Given the description of an element on the screen output the (x, y) to click on. 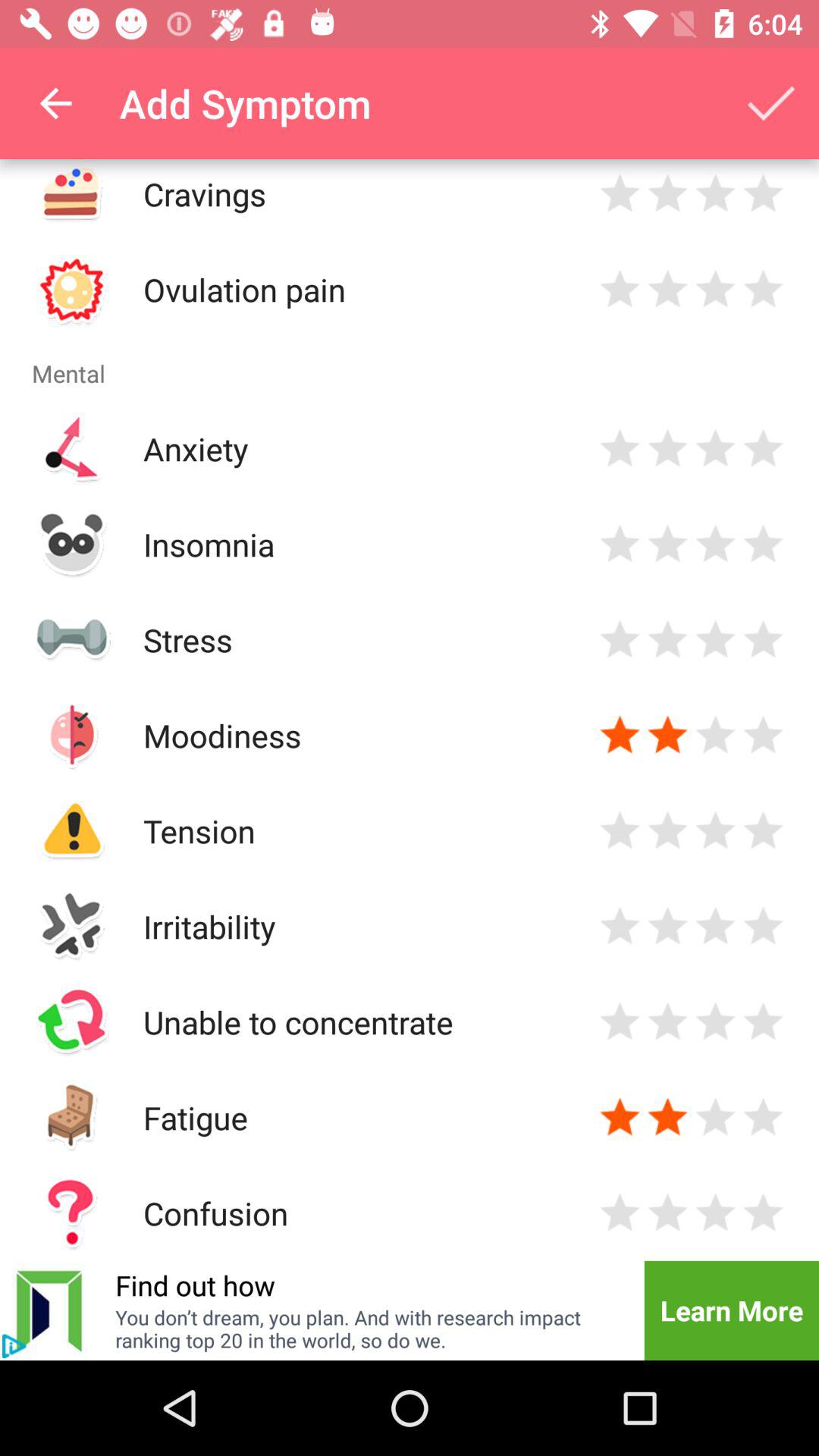
rate 4 stars for confusion (763, 1213)
